Given the description of an element on the screen output the (x, y) to click on. 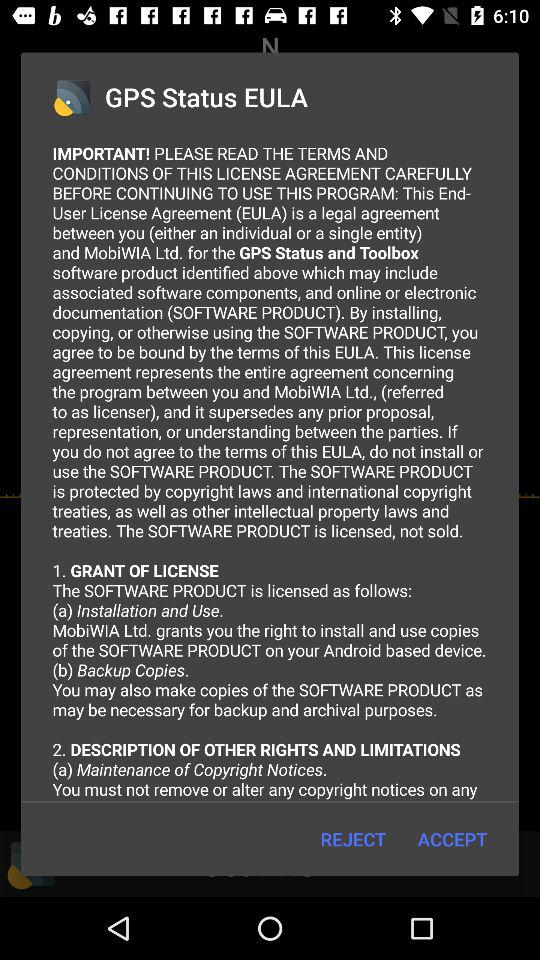
flip to the reject item (352, 838)
